Given the description of an element on the screen output the (x, y) to click on. 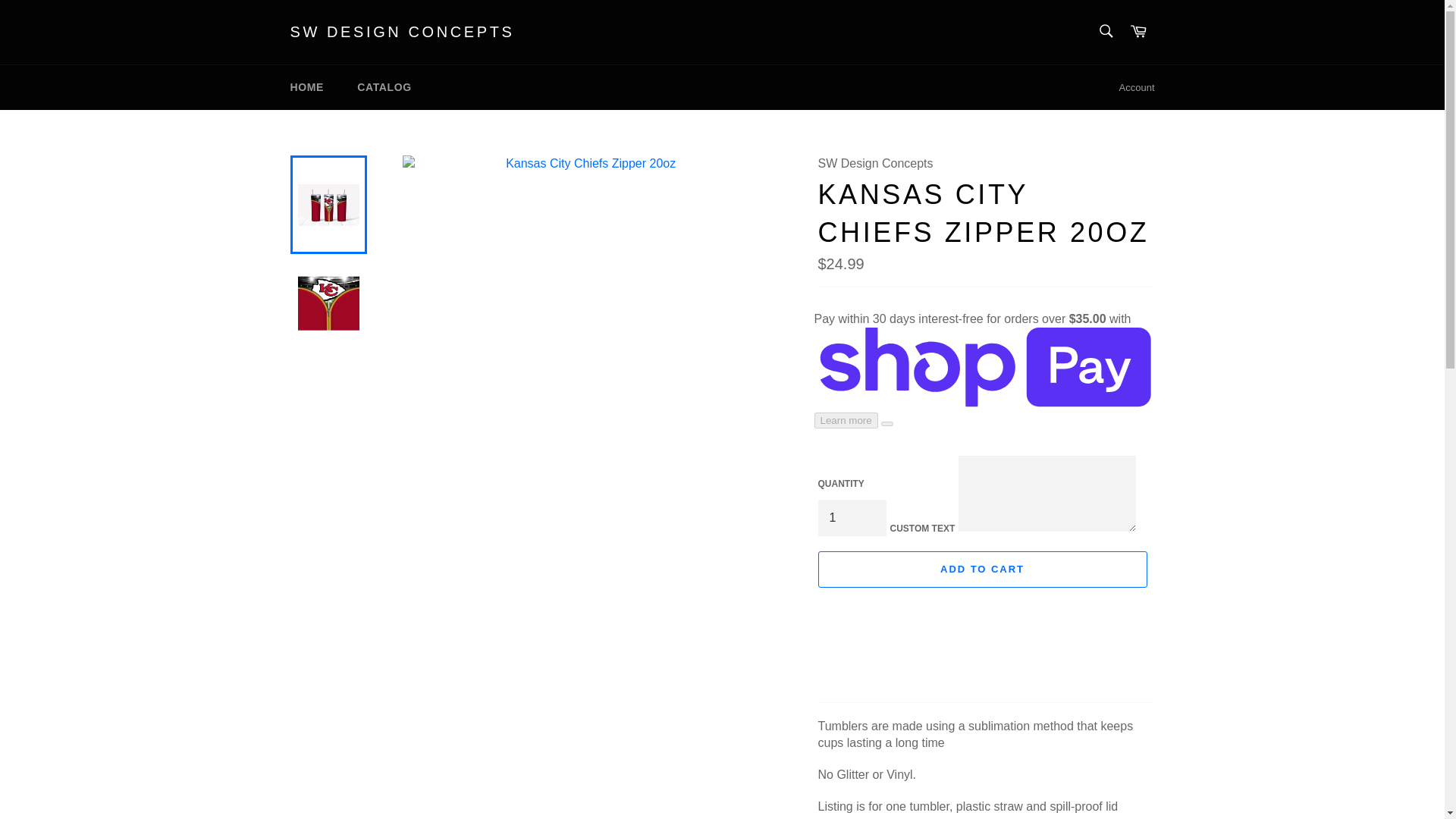
CATALOG (384, 87)
Account (1136, 87)
SW DESIGN CONCEPTS (401, 32)
HOME (306, 87)
Cart (1138, 32)
ADD TO CART (981, 569)
1 (850, 517)
Search (1104, 30)
